Given the description of an element on the screen output the (x, y) to click on. 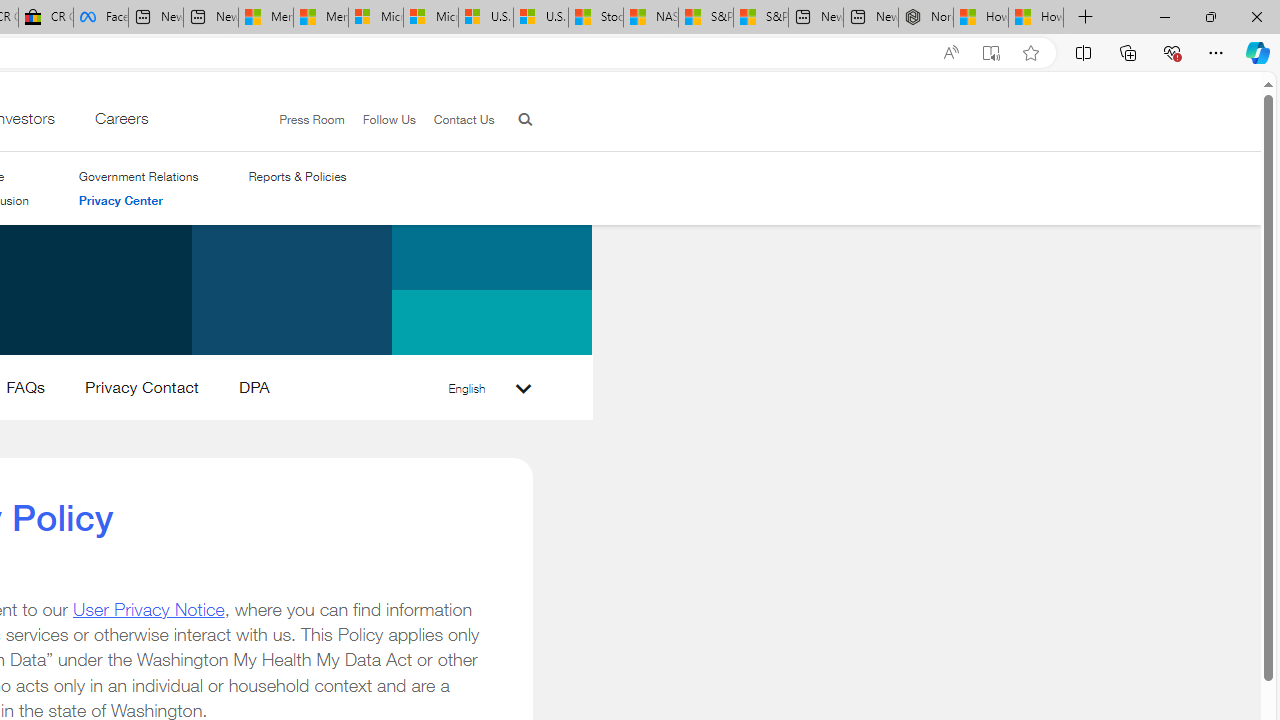
Reports & Policies (297, 176)
Press Room (312, 119)
Privacy Center (120, 200)
Facebook (100, 17)
How to Use a Monitor With Your Closed Laptop (1035, 17)
Careers (120, 123)
